Given the description of an element on the screen output the (x, y) to click on. 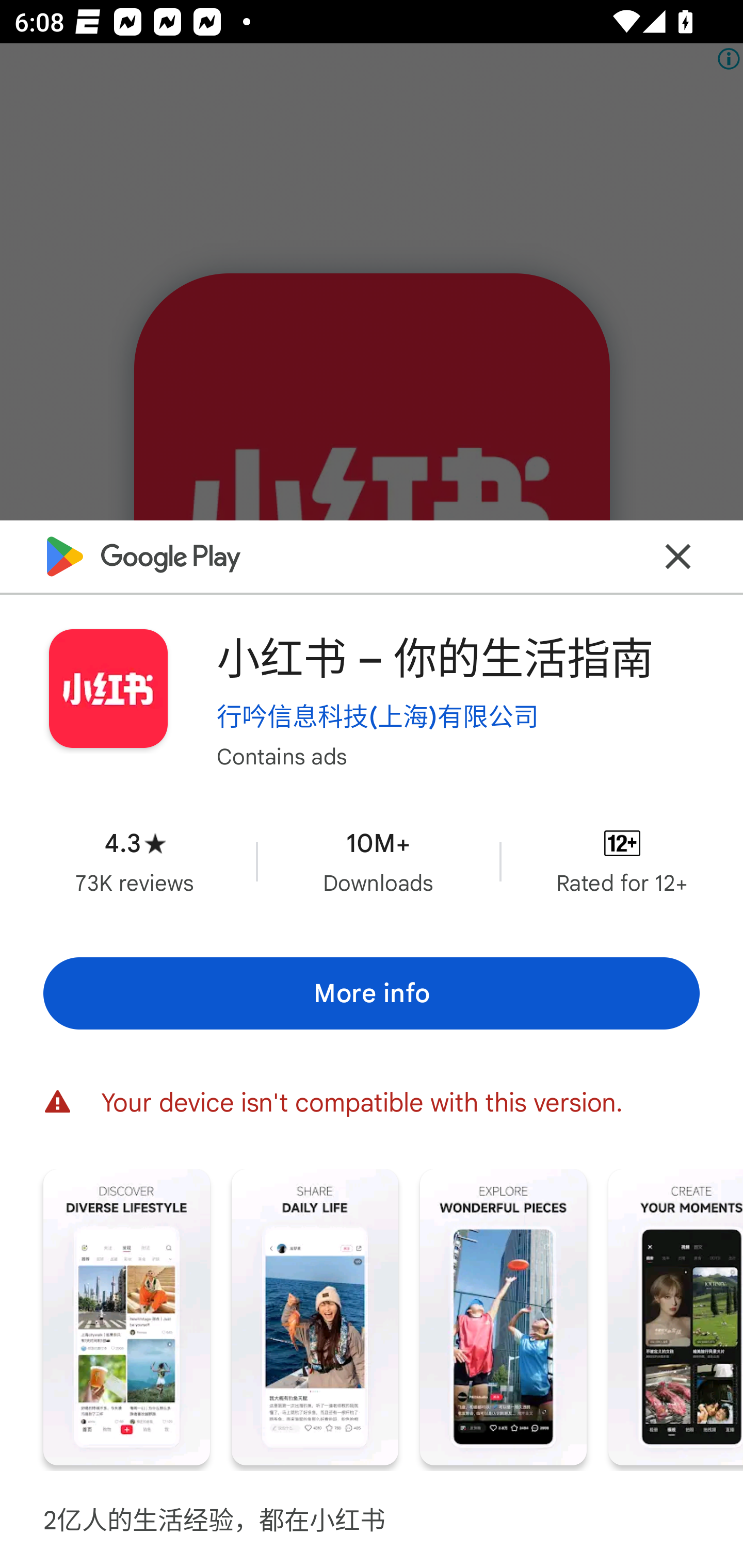
Close (677, 556)
Image of app or game icon for 小红书 – 你的生活指南 (108, 689)
行吟信息科技(上海)有限公司 (377, 716)
More info (371, 994)
Screenshot "1" of "5" (126, 1317)
Screenshot "2" of "5" (314, 1317)
Screenshot "3" of "5" (502, 1317)
Screenshot "4" of "5" (675, 1317)
